Given the description of an element on the screen output the (x, y) to click on. 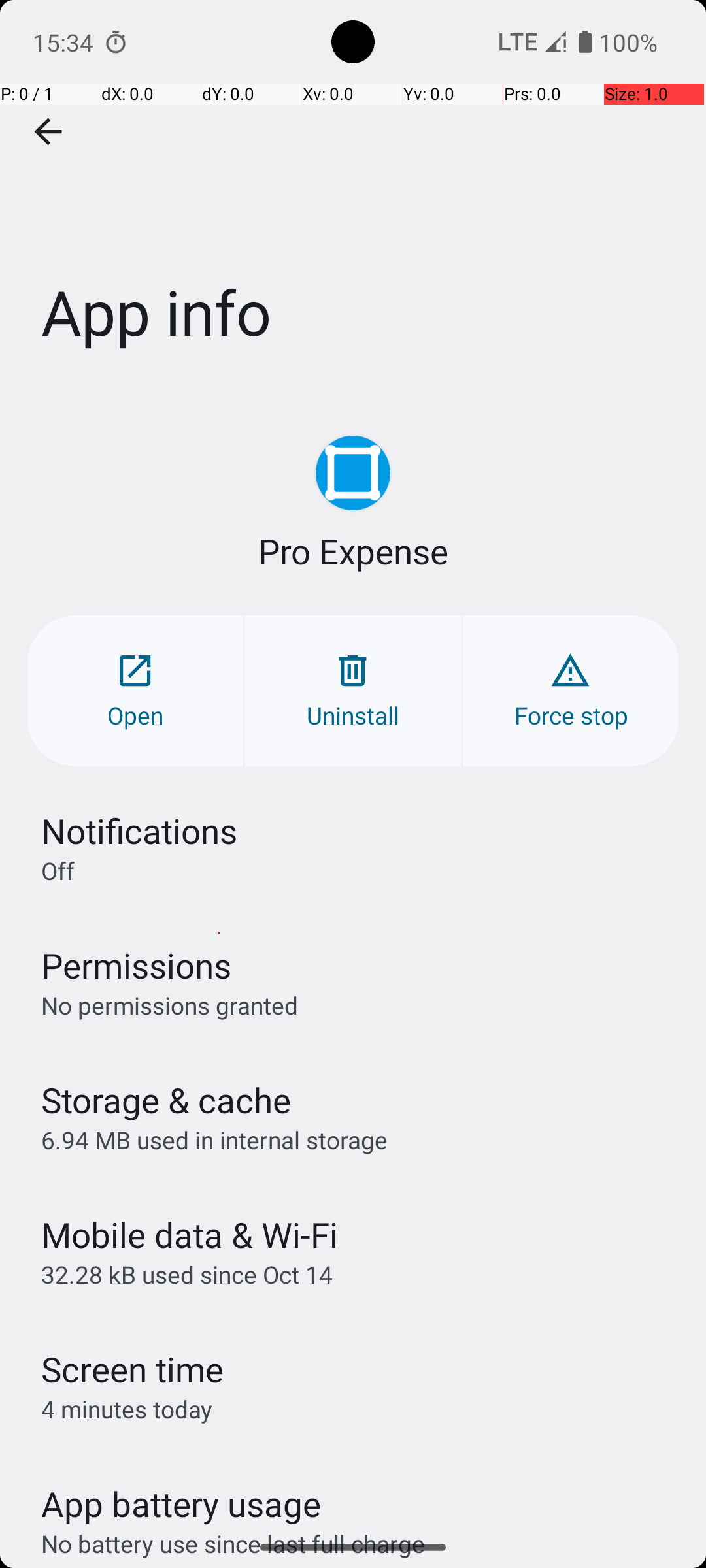
No permissions granted Element type: android.widget.TextView (169, 1004)
6.94 MB used in internal storage Element type: android.widget.TextView (214, 1139)
32.28 kB used since Oct 14 Element type: android.widget.TextView (186, 1273)
4 minutes today Element type: android.widget.TextView (127, 1408)
